Given the description of an element on the screen output the (x, y) to click on. 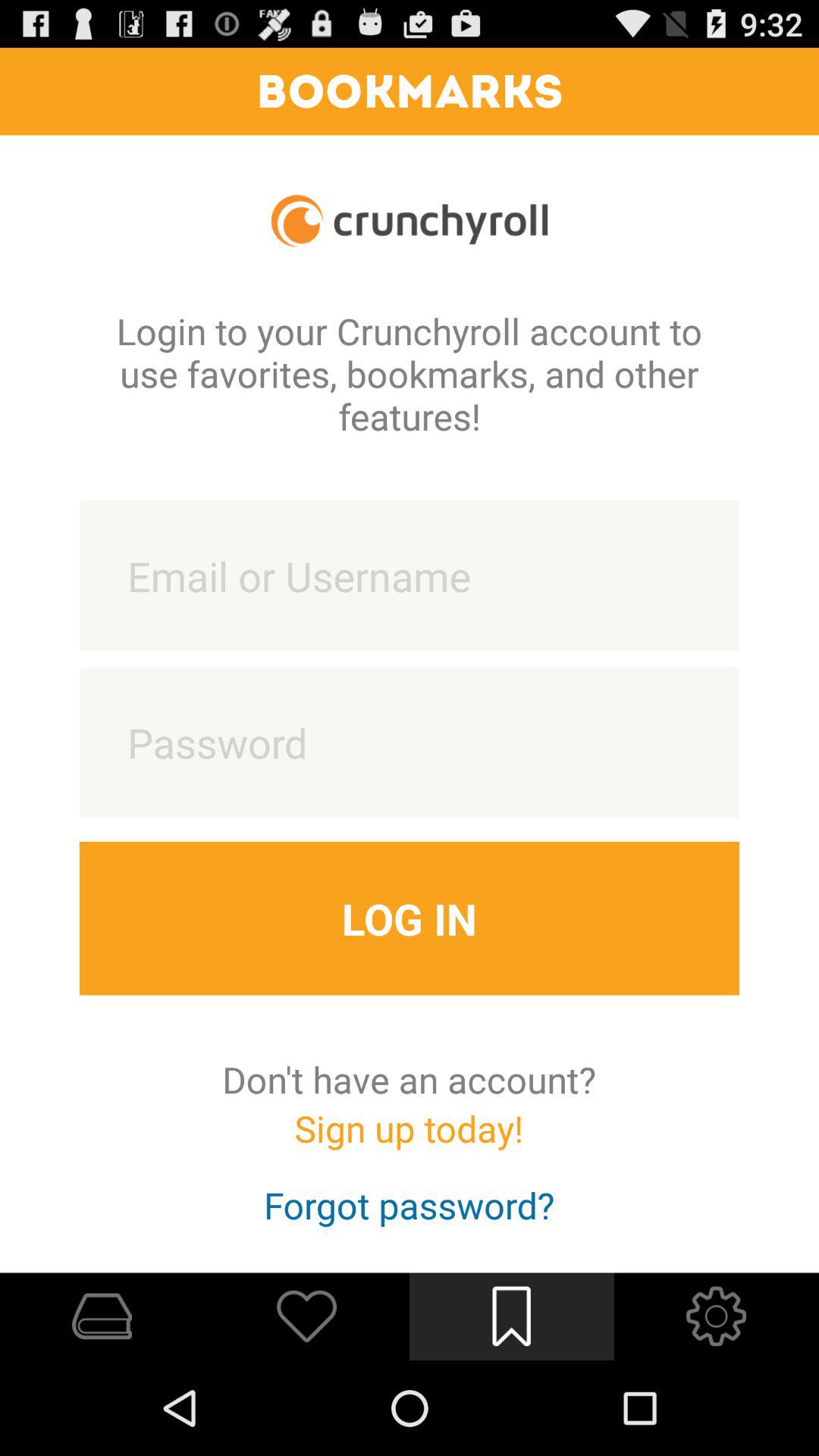
a box for entering password (409, 742)
